Given the description of an element on the screen output the (x, y) to click on. 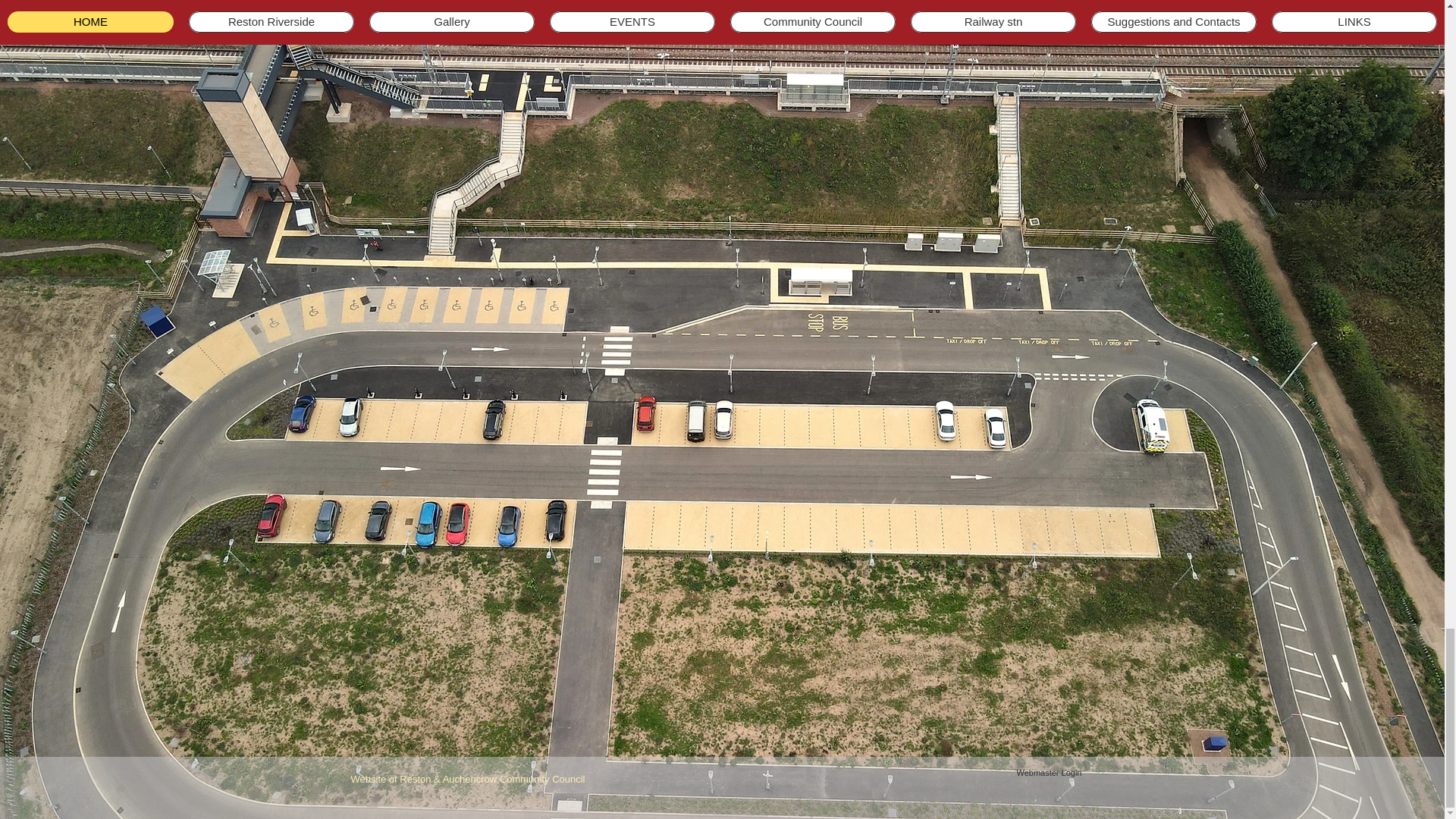
Webmaster Login (1048, 773)
